Given the description of an element on the screen output the (x, y) to click on. 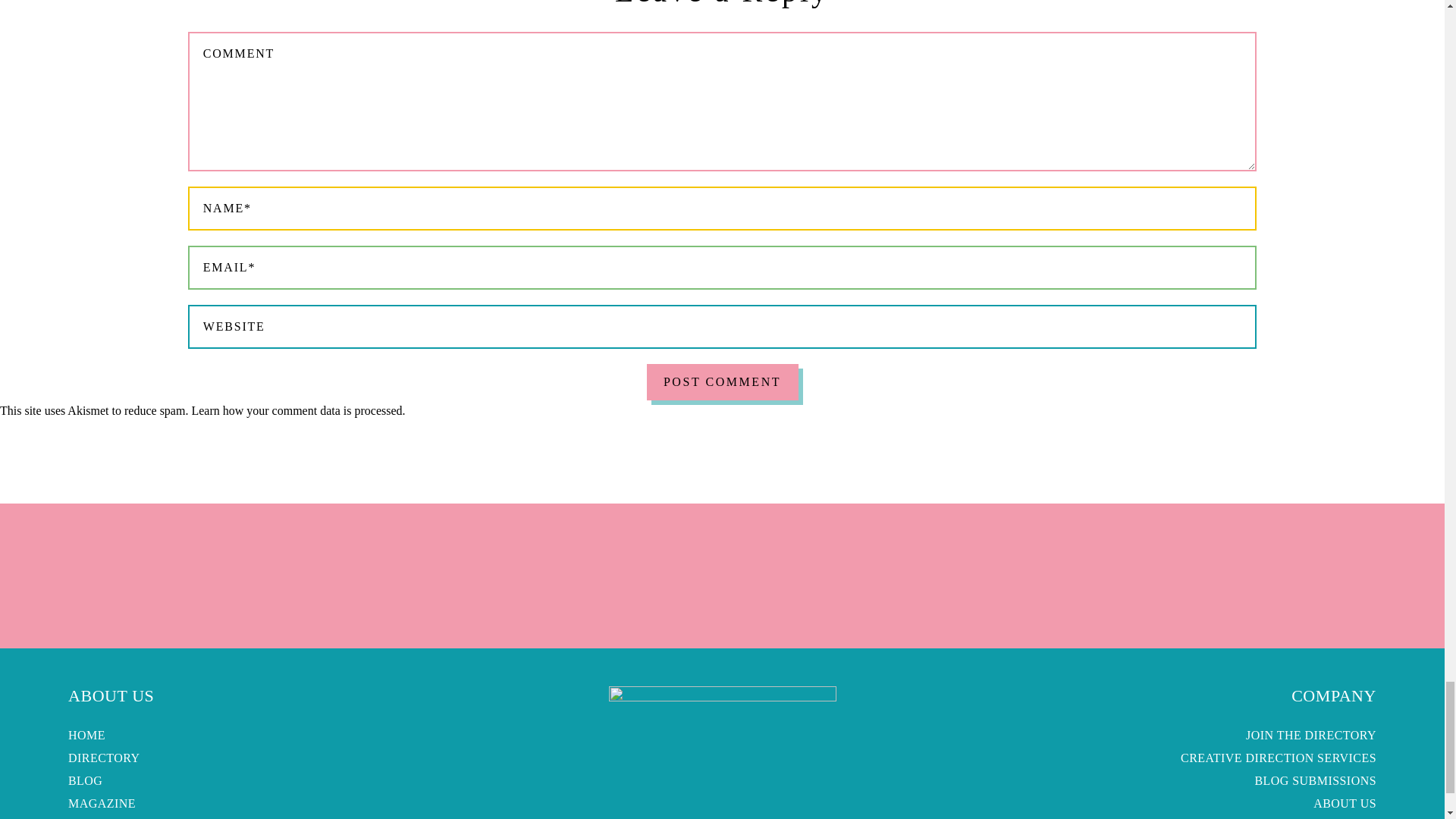
Post Comment (721, 381)
Post Comment (721, 381)
Learn how your comment data is processed (295, 410)
